Given the description of an element on the screen output the (x, y) to click on. 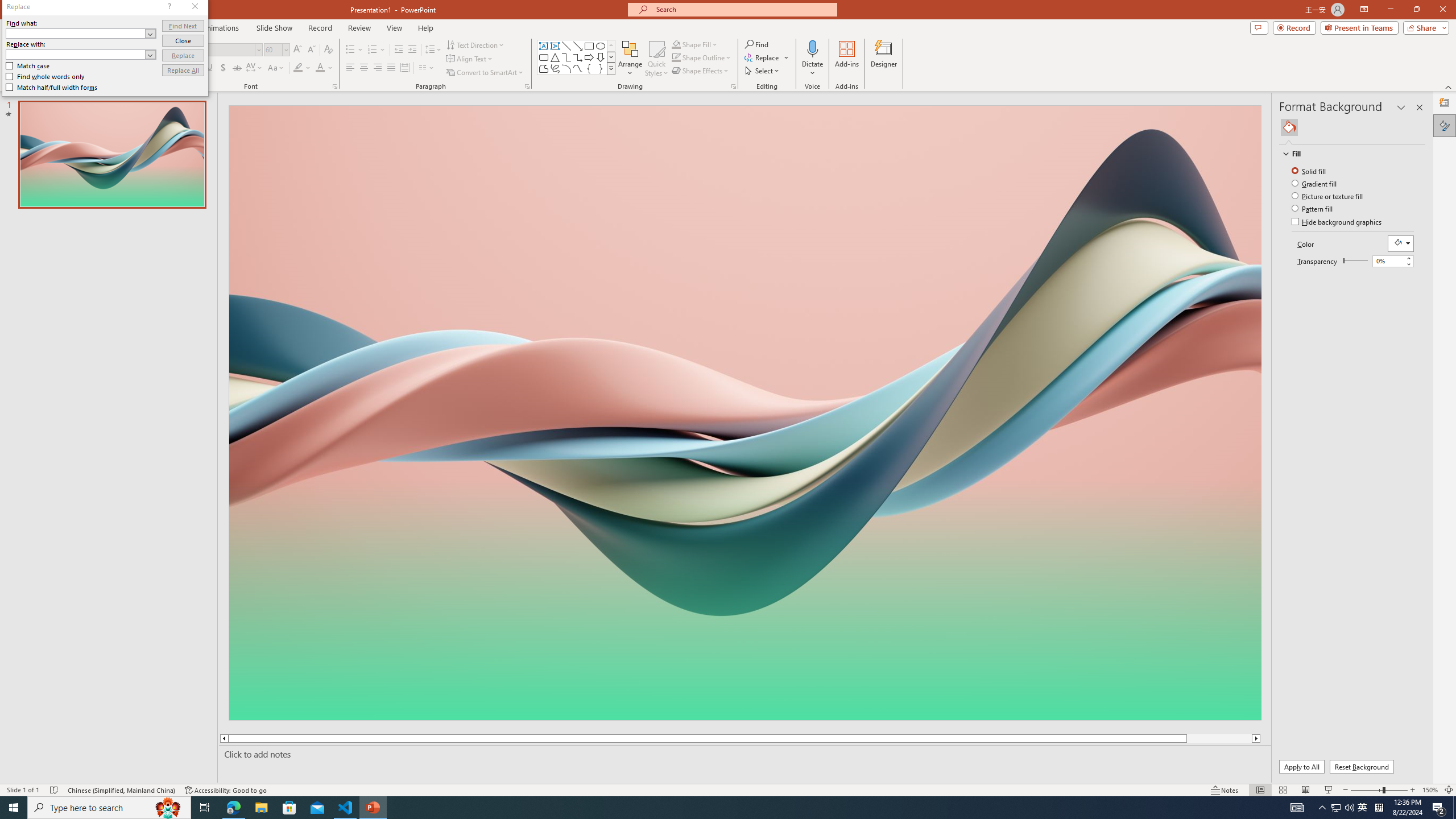
Find whole words only (45, 76)
